Given the description of an element on the screen output the (x, y) to click on. 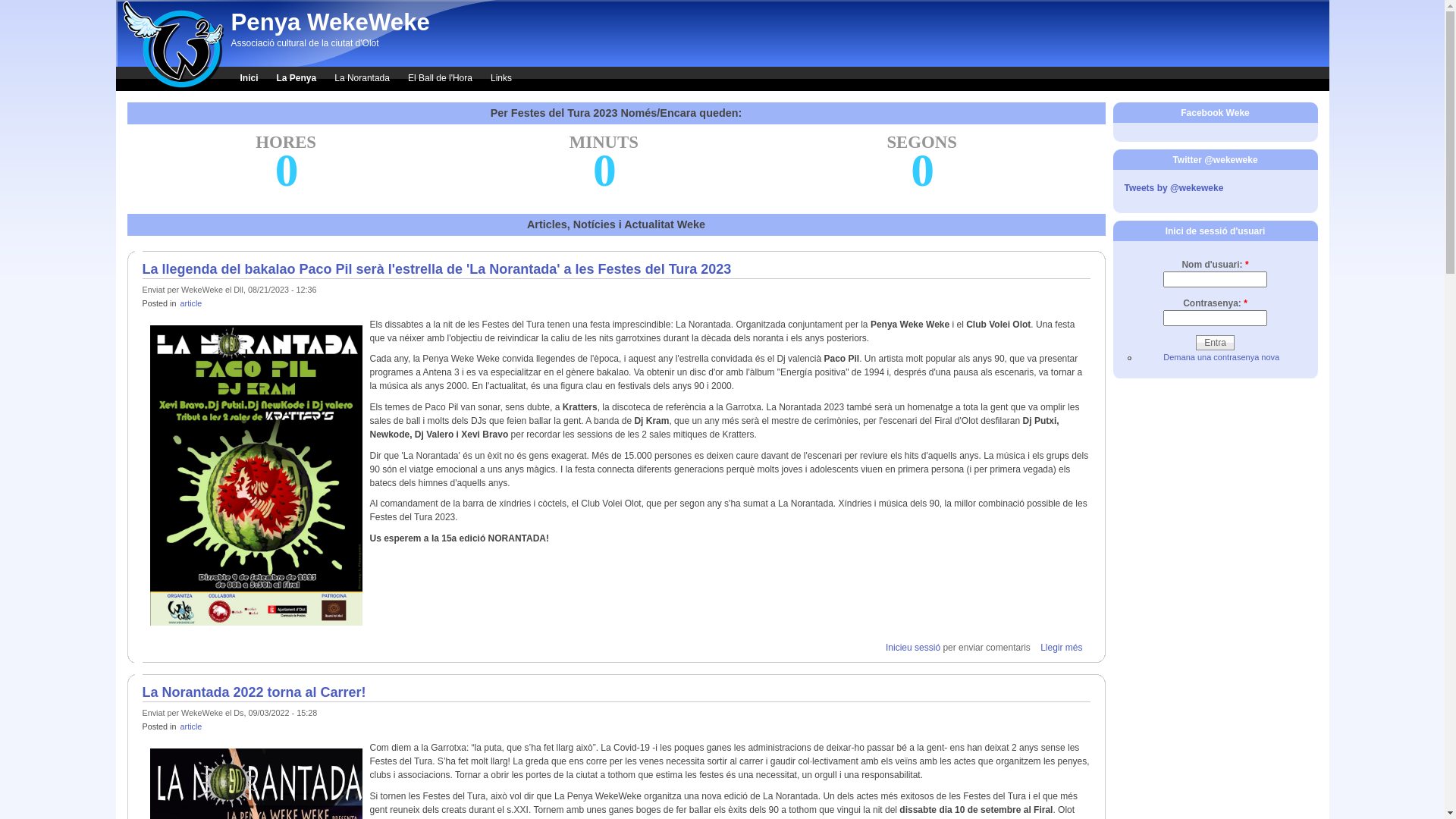
Home page Element type: hover (168, 86)
La Norantada Element type: text (361, 78)
article Element type: text (191, 302)
Demana una contrasenya nova Element type: text (1221, 356)
Links Element type: text (500, 78)
article Element type: text (191, 726)
Penya WekeWeke Element type: text (329, 22)
Entra Element type: text (1214, 342)
Inici Element type: text (248, 78)
El Ball de l'Hora Element type: text (439, 78)
Tweets by @wekeweke Element type: text (1173, 187)
La Norantada 2022 torna al Carrer! Element type: text (254, 691)
La Penya Element type: text (296, 78)
